Given the description of an element on the screen output the (x, y) to click on. 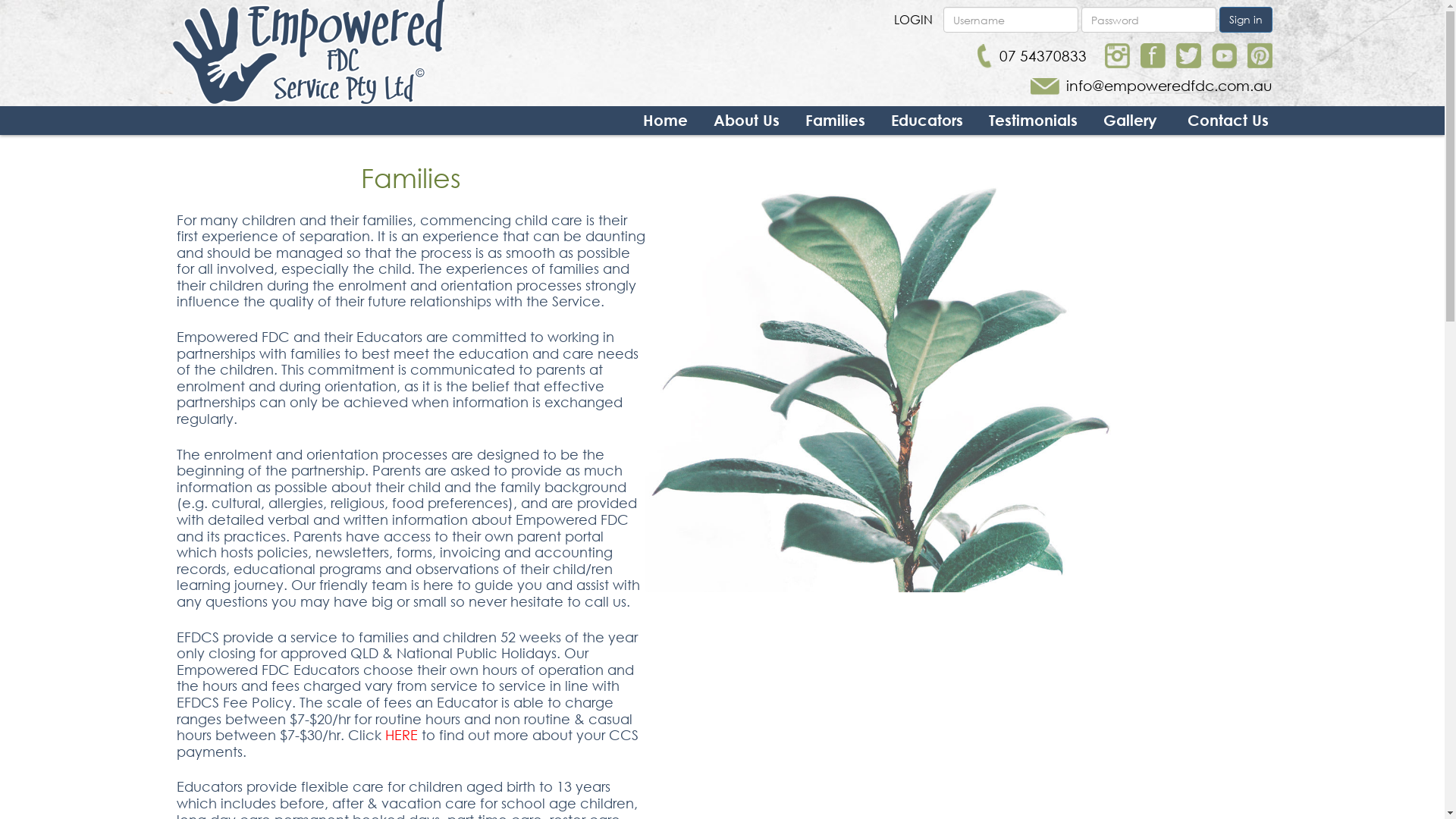
HERE Element type: text (403, 734)
Families Element type: text (835, 120)
Gallery Element type: text (1129, 120)
Contact Us Element type: text (1227, 120)
Educators Element type: text (926, 120)
About Us Element type: text (745, 120)
07 54370833 Element type: text (1031, 56)
Sign in Element type: text (1245, 19)
Testimonials Element type: text (1032, 120)
Home Element type: text (665, 120)
info@empoweredfdc.com.au Element type: text (1150, 86)
